Given the description of an element on the screen output the (x, y) to click on. 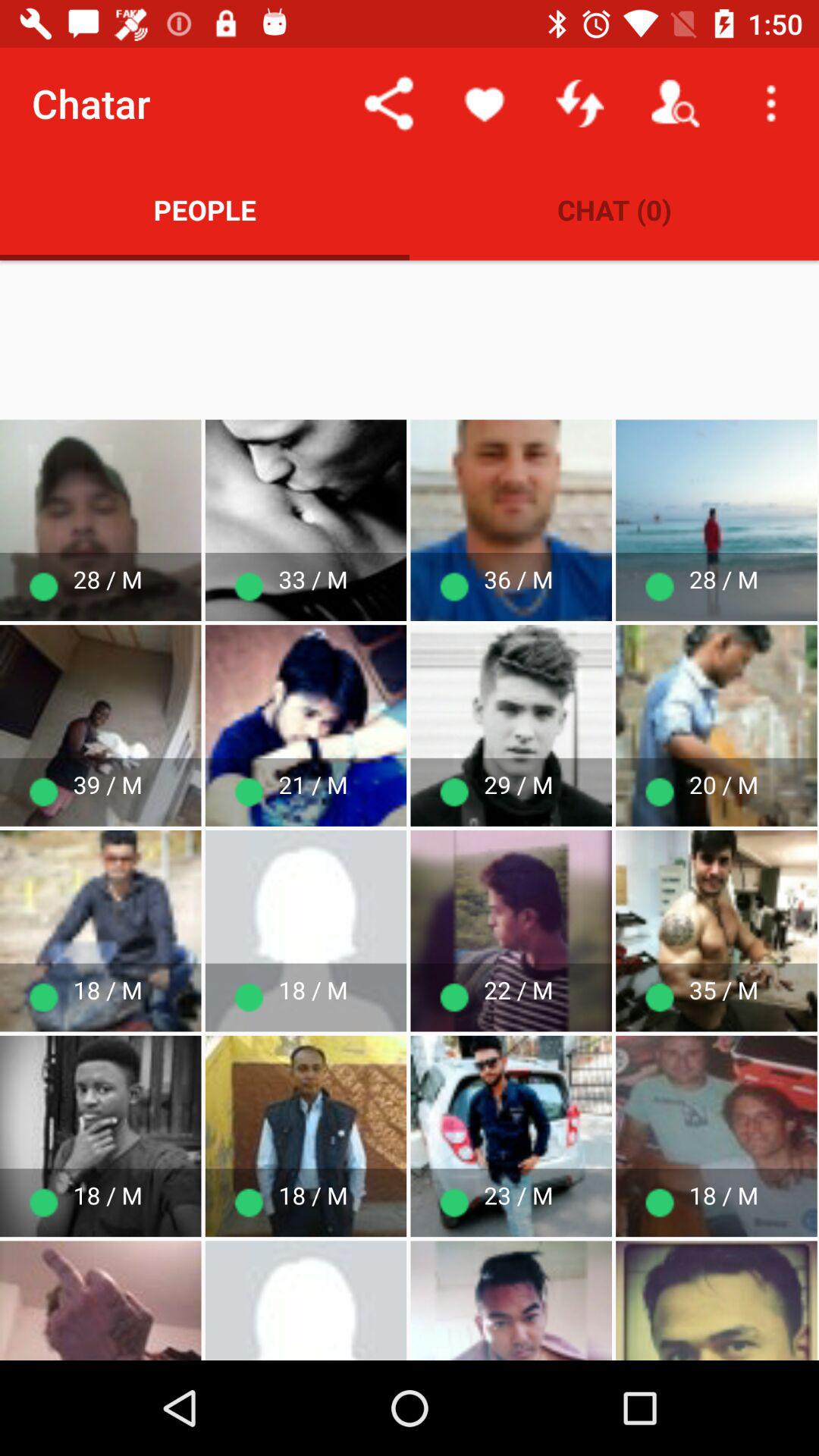
click the item next to chat (0) app (204, 209)
